Given the description of an element on the screen output the (x, y) to click on. 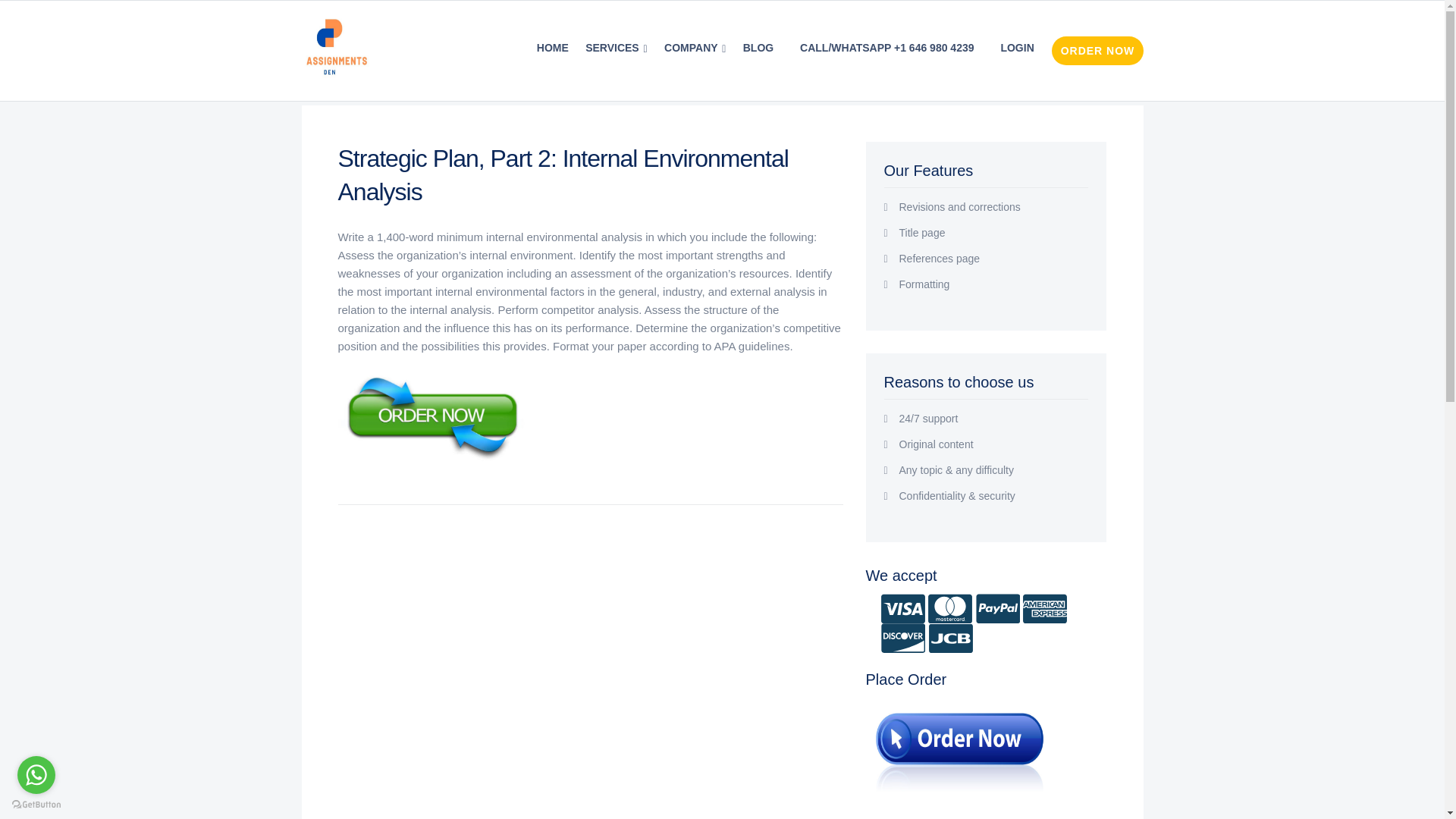
COMPANY (695, 48)
SERVICES (616, 48)
Original content (994, 444)
Revisions and corrections (994, 207)
HOME (552, 48)
ORDER NOW (1096, 50)
References page (994, 258)
LOGIN (1016, 48)
Title page (994, 232)
Formatting (994, 284)
